Given the description of an element on the screen output the (x, y) to click on. 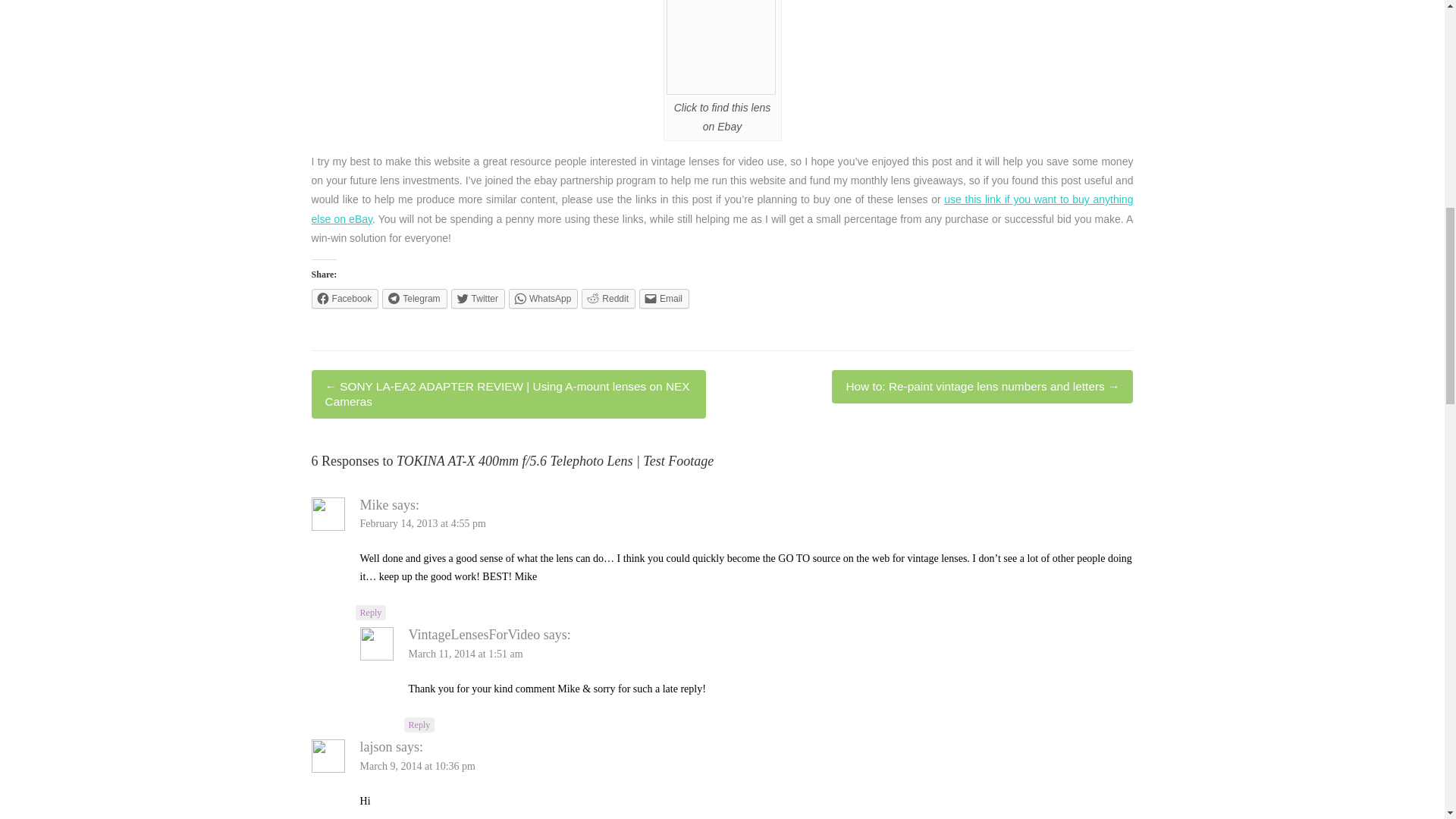
Click to share on Reddit (607, 298)
Click to share on WhatsApp (543, 298)
Click to share on Facebook (344, 298)
WhatsApp (543, 298)
VintageLensesForVideo (474, 634)
Email (663, 298)
Click to email this to a friend (663, 298)
March 11, 2014 at 1:51 am (465, 654)
Reply (419, 724)
Mike (373, 504)
